Given the description of an element on the screen output the (x, y) to click on. 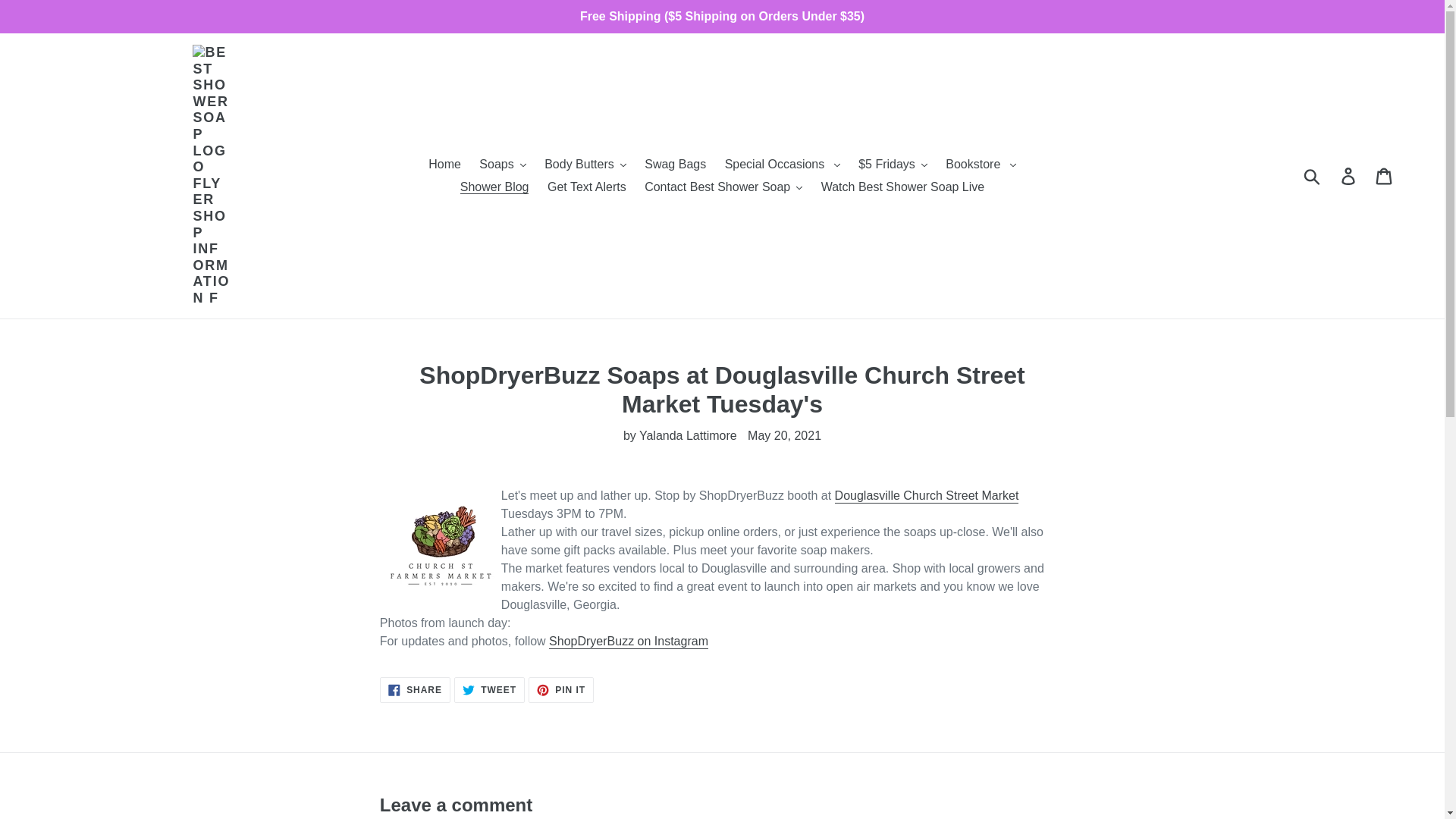
ShopDryerBuzz on Instagram (627, 641)
ShopDryerBuzz at Douglasville Church Street Market (926, 495)
Home (444, 164)
Swag Bags (675, 164)
